Given the description of an element on the screen output the (x, y) to click on. 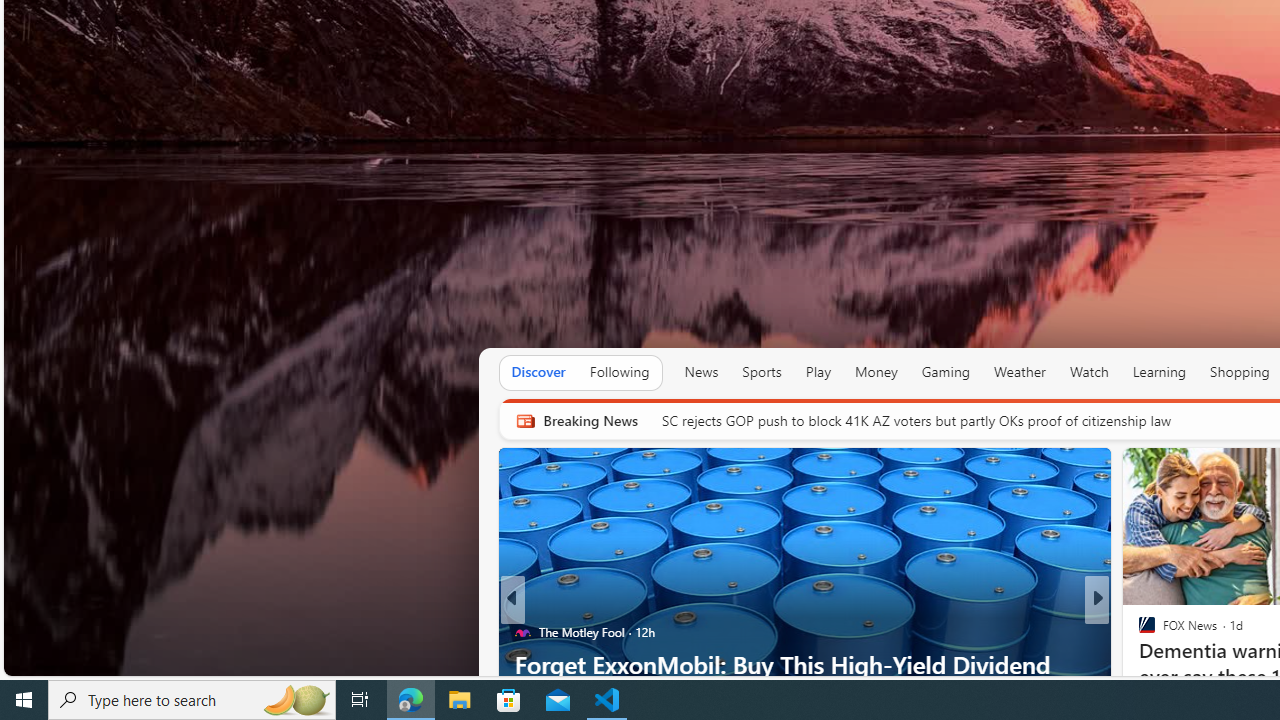
Moneywise (1138, 632)
Food Republic (1138, 632)
Not Your Boss Babe (1138, 632)
Newsweek (1138, 632)
